Given the description of an element on the screen output the (x, y) to click on. 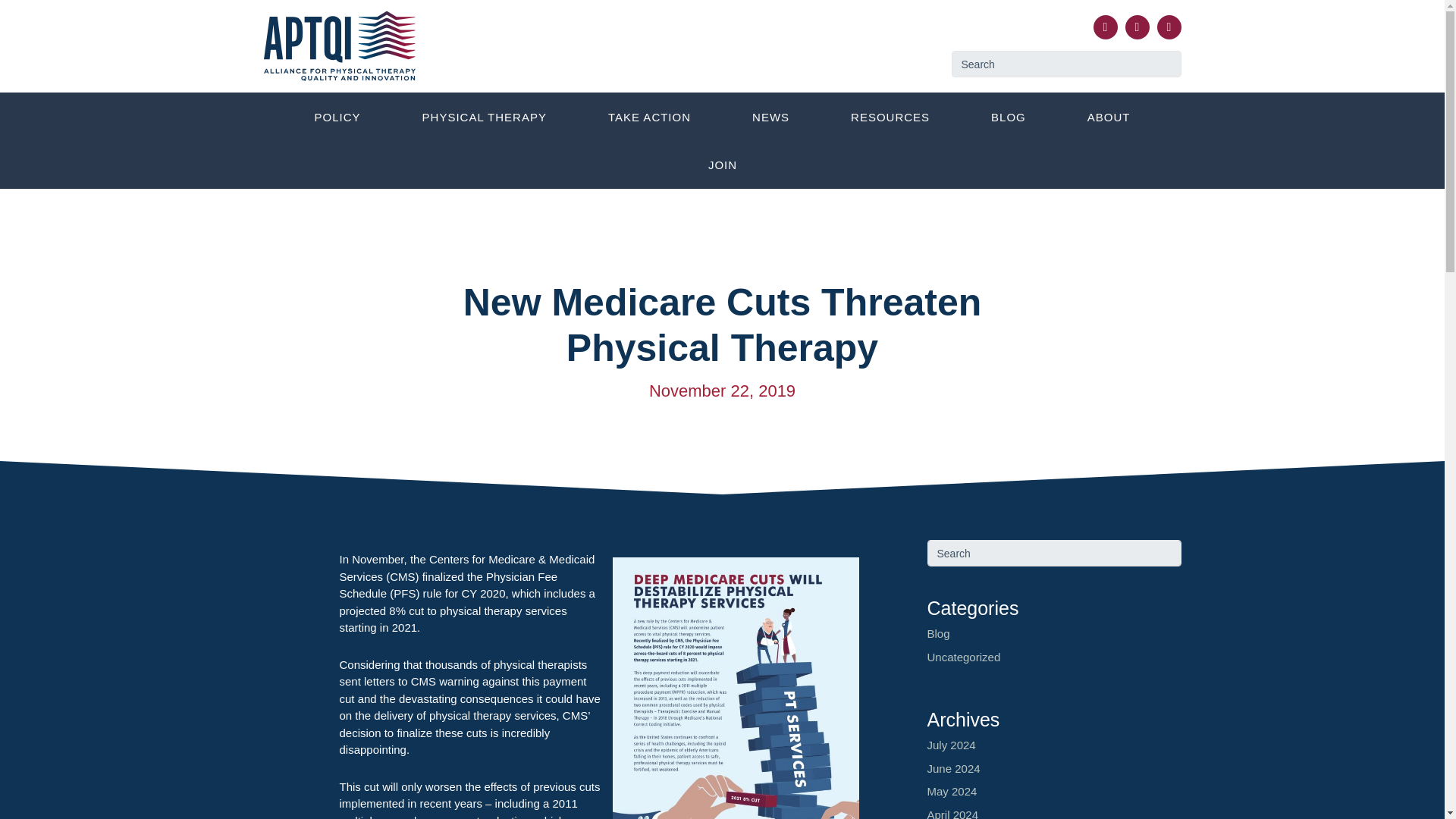
JOIN (722, 164)
Search (1065, 63)
April 2024 (952, 813)
July 2024 (950, 744)
BLOG (1008, 117)
ABOUT (1108, 117)
Search (1053, 552)
May 2024 (951, 790)
Type and press Enter to search. (1065, 63)
POLICY (337, 117)
Uncategorized (963, 656)
PHYSICAL THERAPY (483, 117)
NEWS (770, 117)
Search (1065, 63)
June 2024 (952, 767)
